Given the description of an element on the screen output the (x, y) to click on. 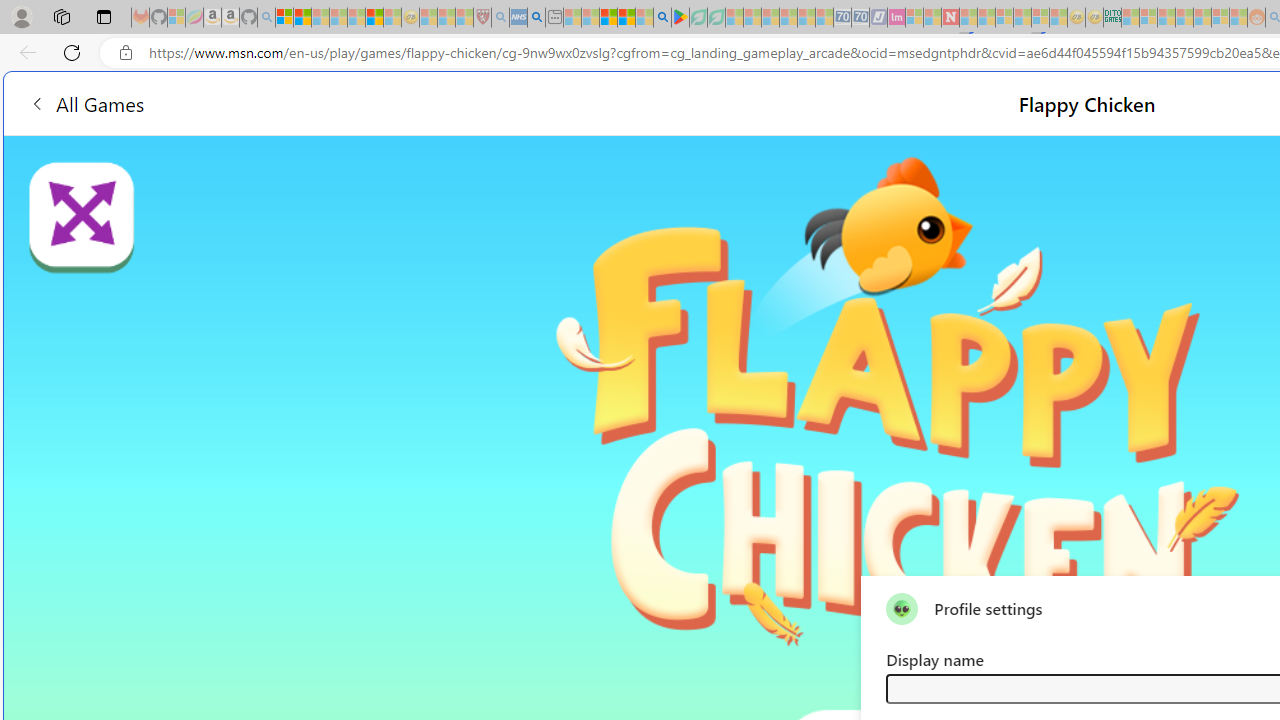
""'s avatar (902, 608)
Bluey: Let's Play! - Apps on Google Play (680, 17)
